Given the description of an element on the screen output the (x, y) to click on. 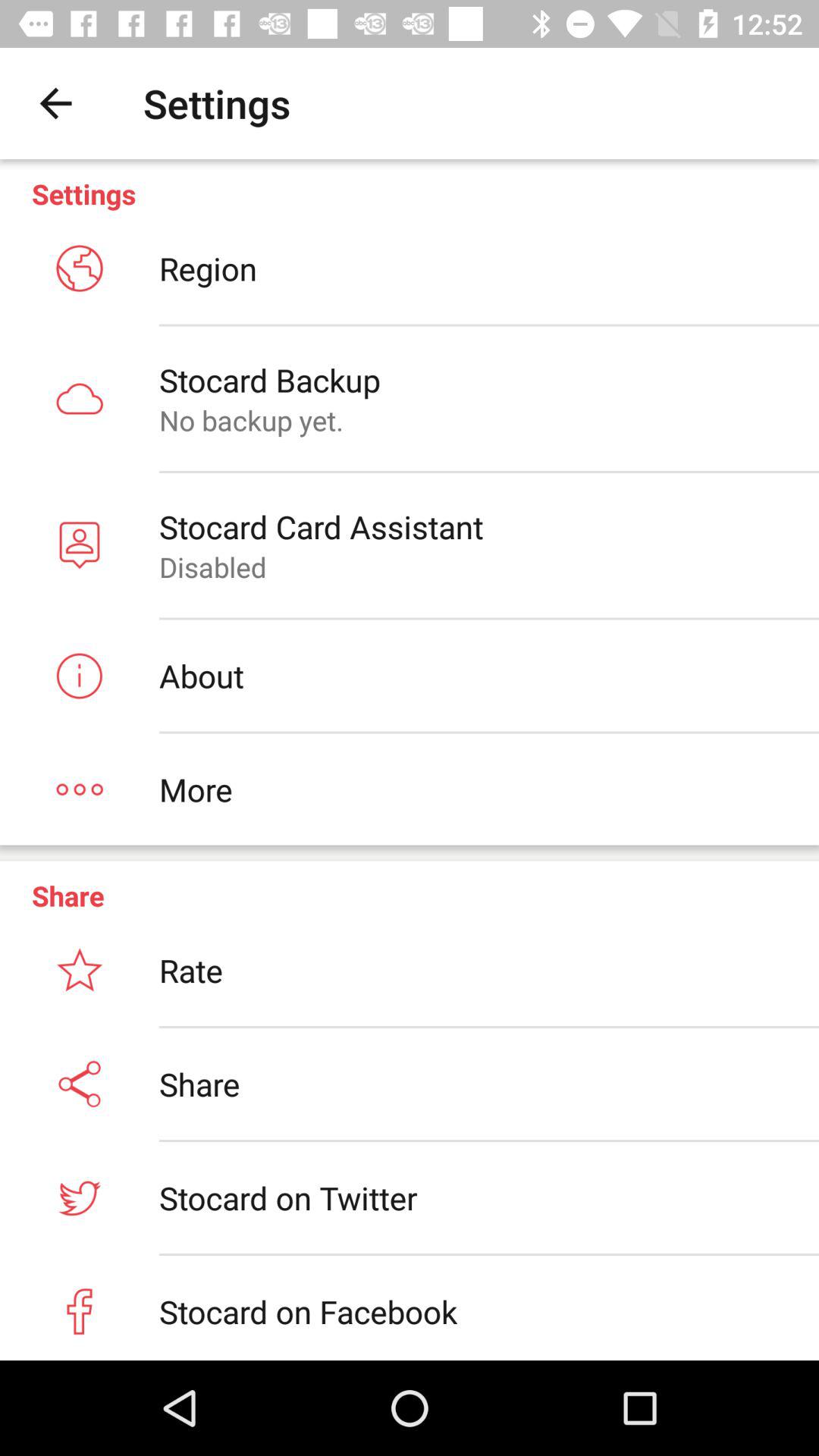
click the item above settings item (55, 103)
